Given the description of an element on the screen output the (x, y) to click on. 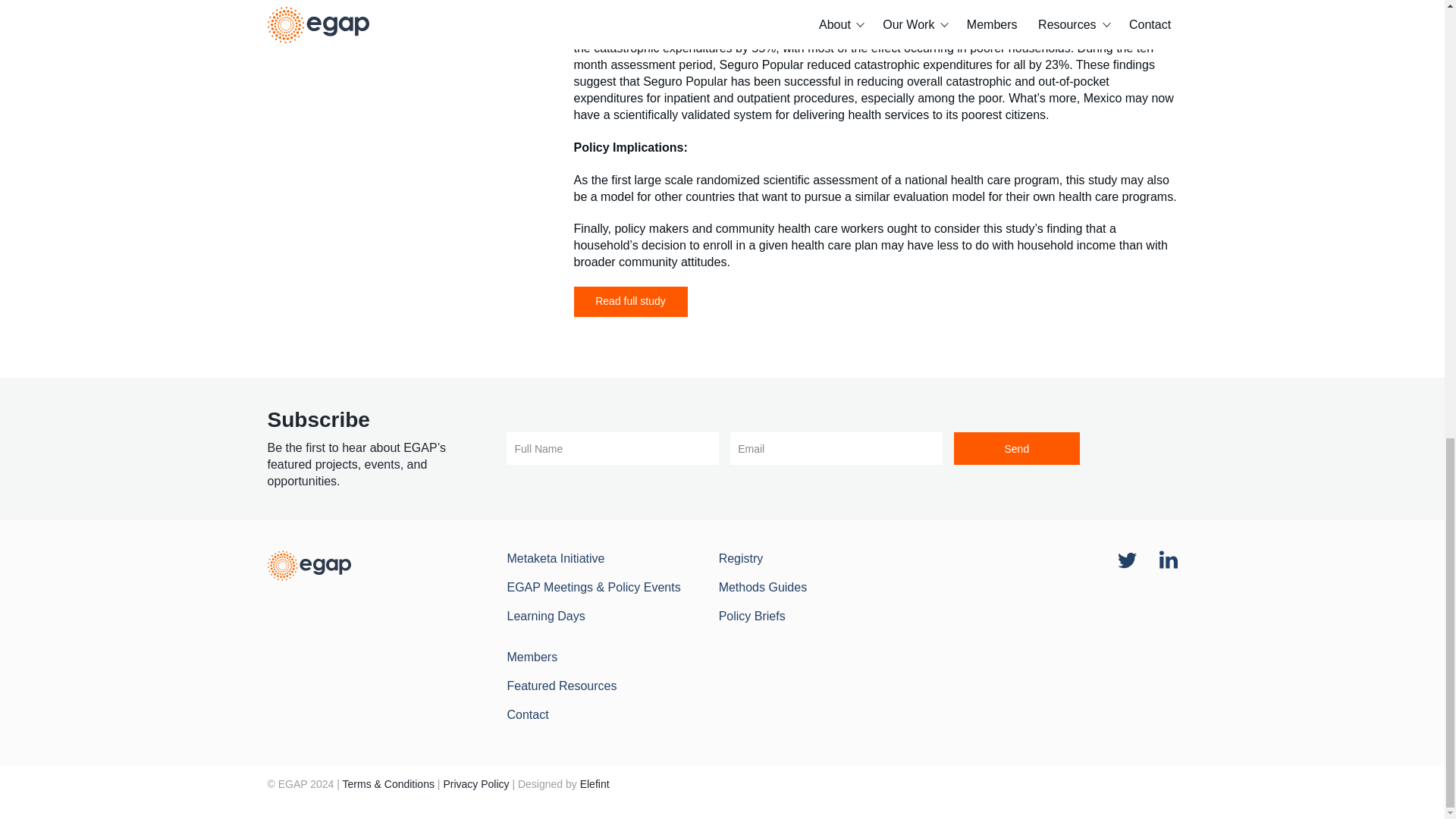
Send (1016, 448)
Learning Days (545, 615)
Members (531, 656)
Methods Guides (763, 586)
Metaketa Initiative (555, 558)
Registry (740, 558)
Policy Briefs (752, 615)
Read full study (630, 301)
